Given the description of an element on the screen output the (x, y) to click on. 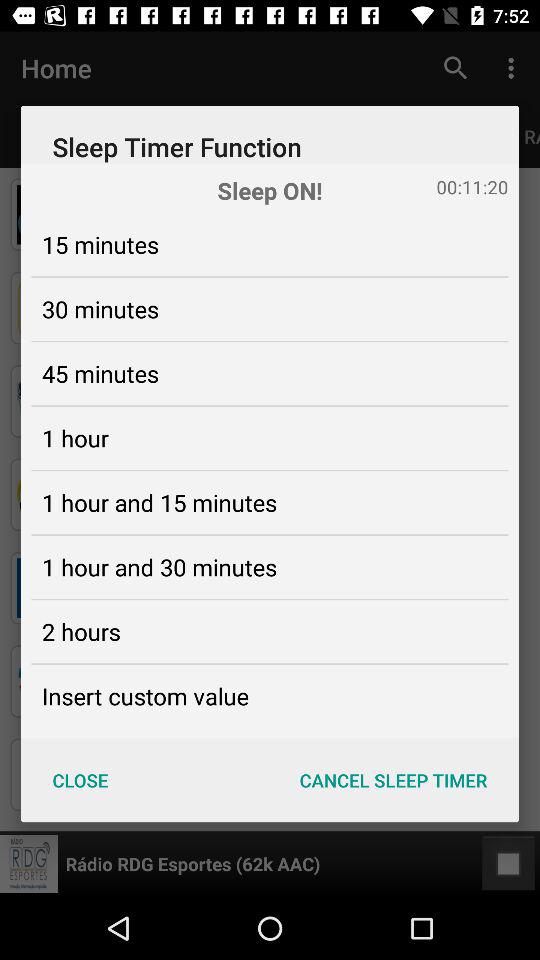
turn on item to the left of the cancel sleep timer item (80, 779)
